Given the description of an element on the screen output the (x, y) to click on. 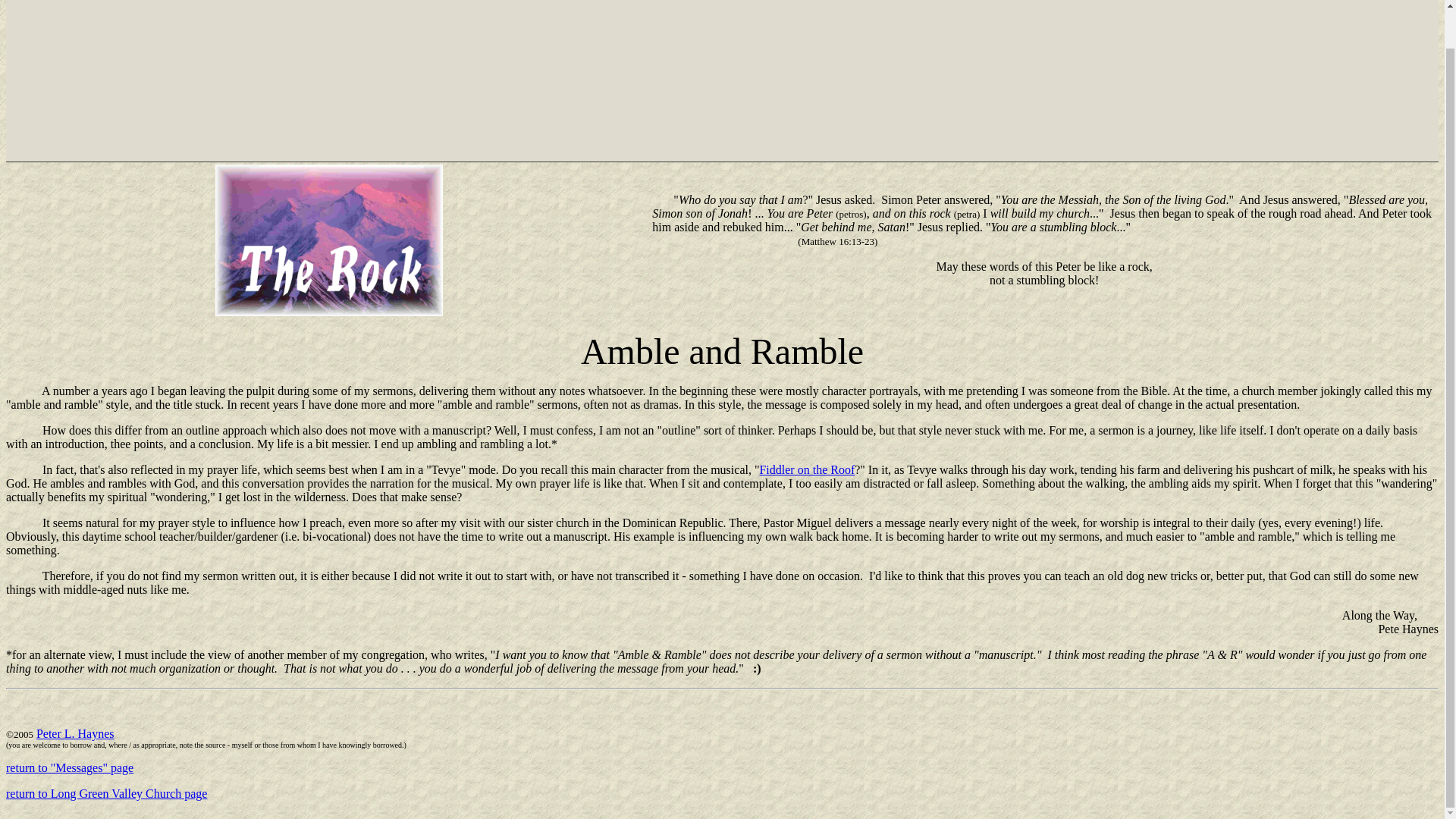
return to Long Green Valley Church page (105, 793)
Peter L. Haynes (75, 733)
return to "Messages" page (69, 767)
Fiddler on the Roof (806, 469)
